Given the description of an element on the screen output the (x, y) to click on. 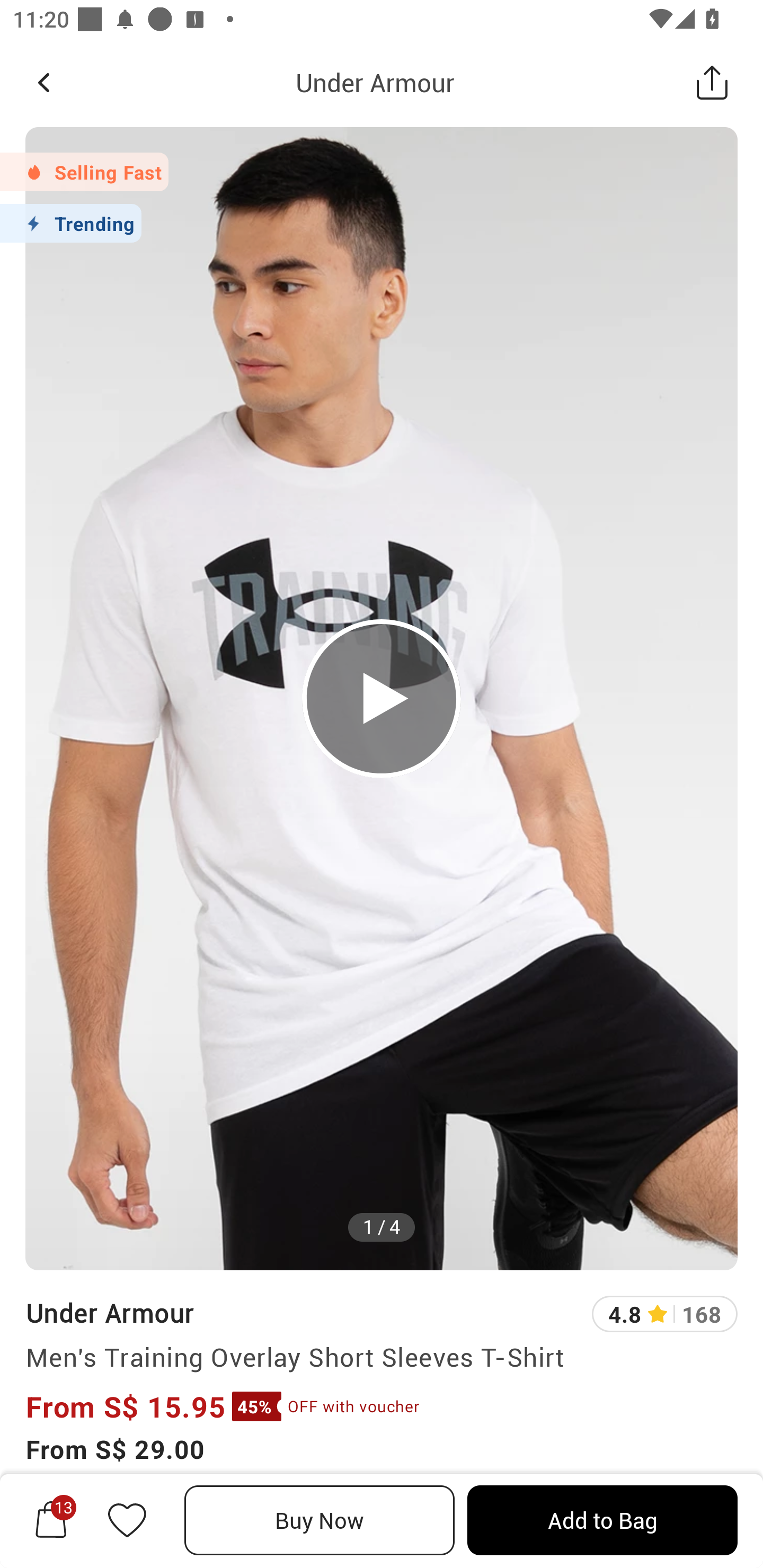
Under Armour (375, 82)
Share this Product (711, 82)
Under Armour (109, 1312)
4.8 168 (664, 1313)
Buy Now (319, 1519)
Add to Bag (601, 1519)
13 (50, 1520)
